Given the description of an element on the screen output the (x, y) to click on. 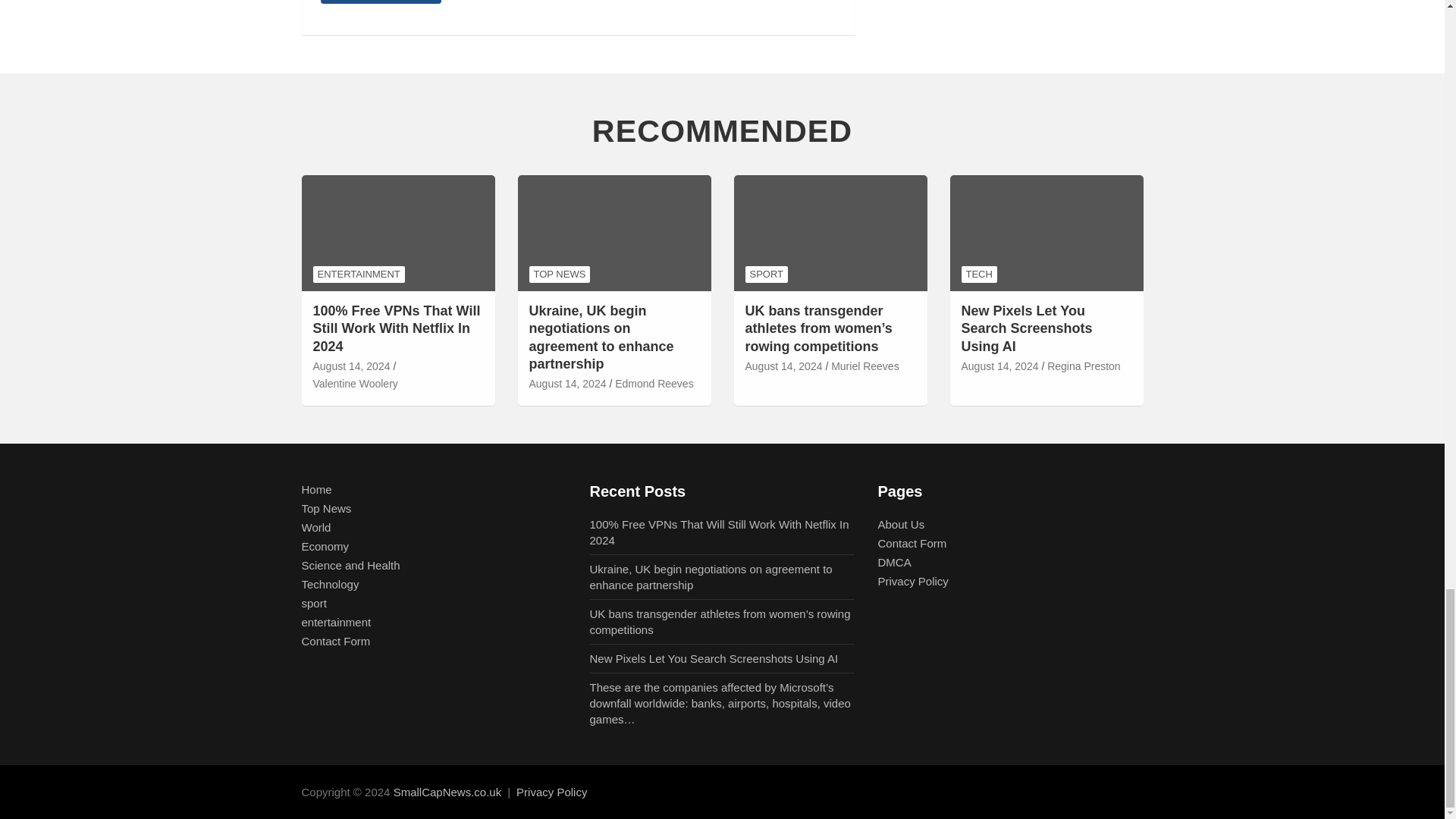
SmallCapNews.co.uk (447, 791)
Post Comment (380, 2)
New Pixels Let You Search Screenshots Using AI (999, 366)
Post Comment (380, 2)
